Given the description of an element on the screen output the (x, y) to click on. 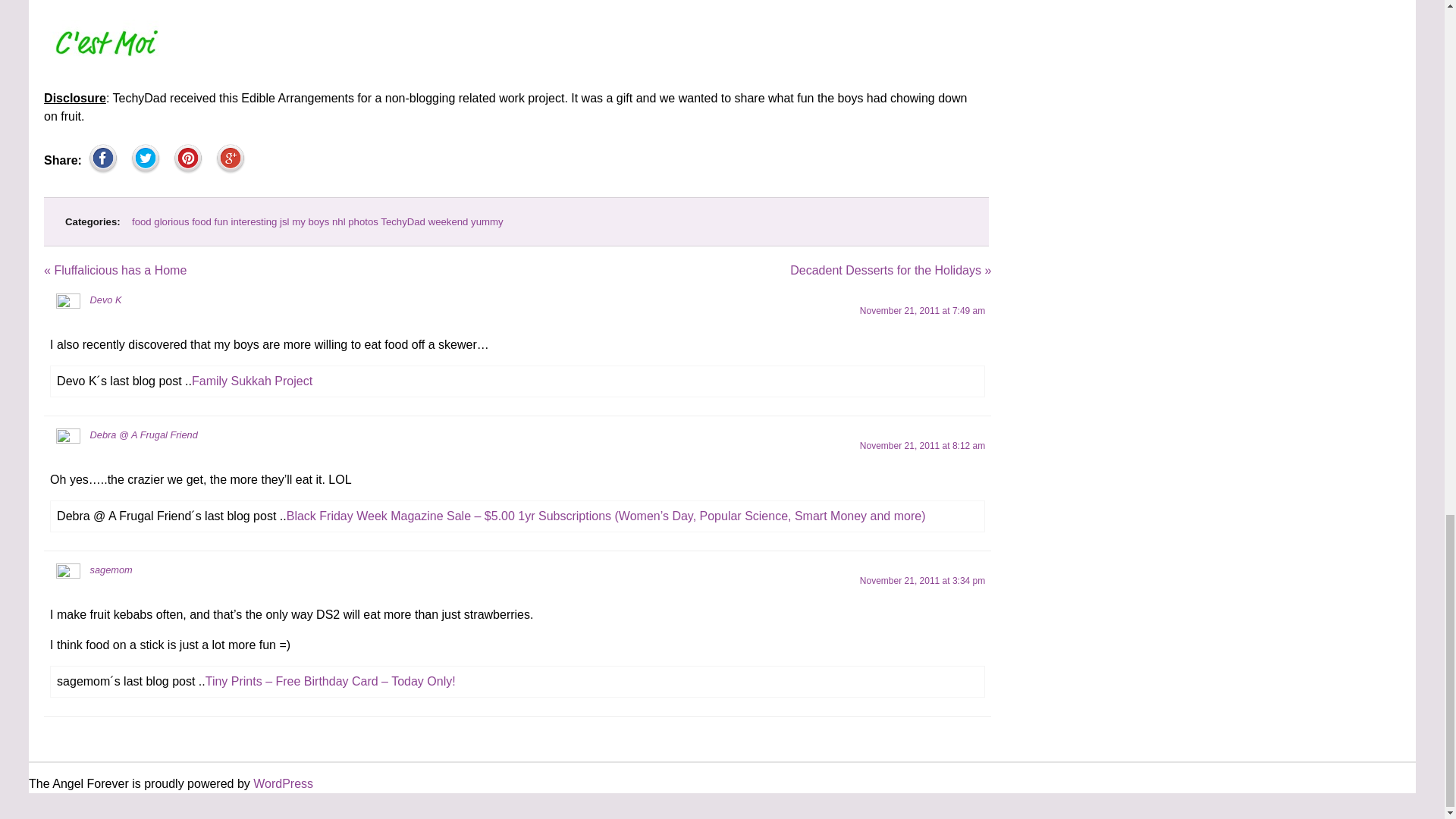
It's Me (106, 42)
weekend (448, 221)
photos (362, 221)
food glorious food (171, 221)
yummy (486, 221)
fun (221, 221)
TechyDad (402, 221)
my boys (310, 221)
nhl (338, 221)
interesting (254, 221)
